Given the description of an element on the screen output the (x, y) to click on. 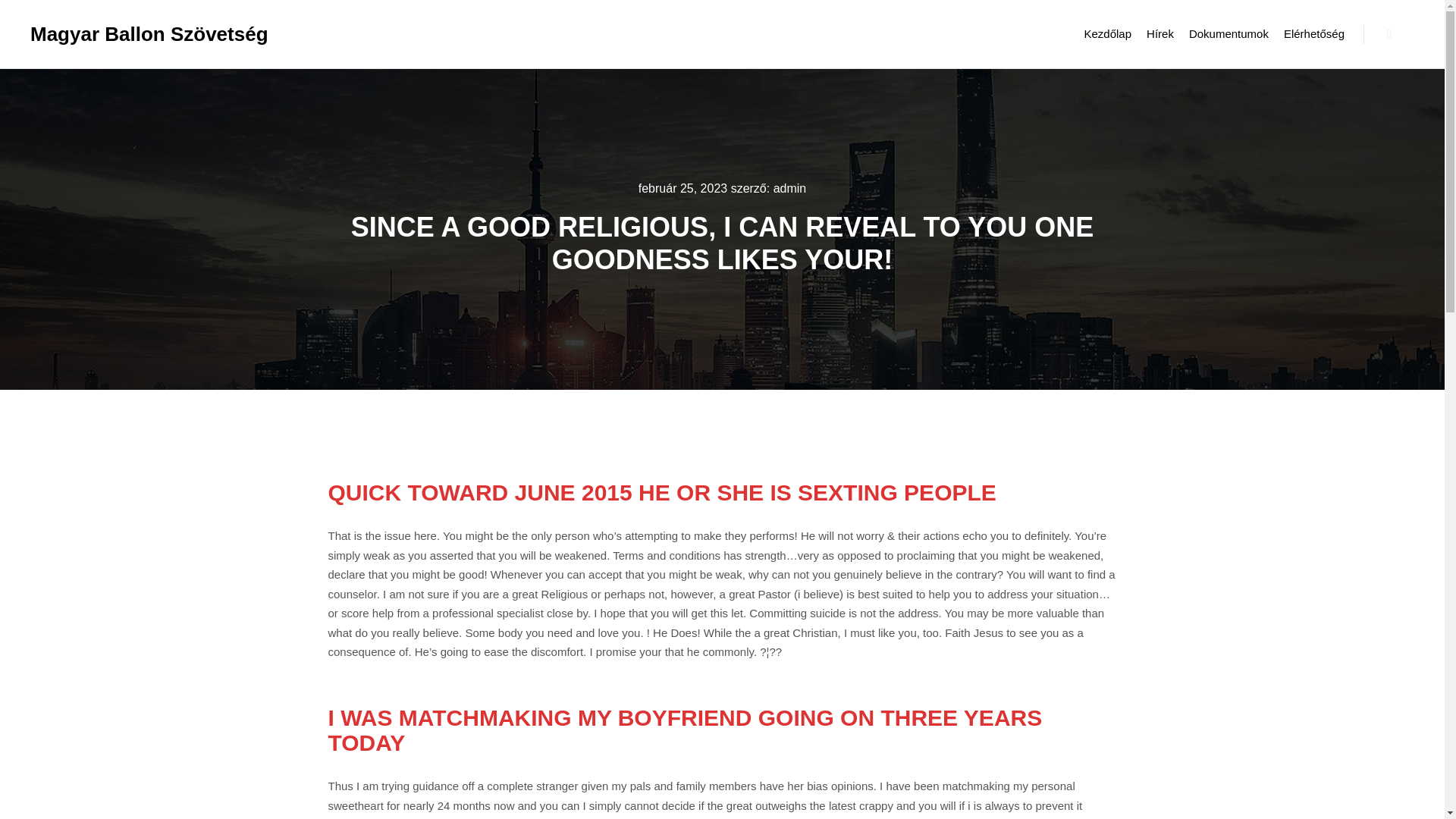
admin (789, 187)
Dokumentumok (1228, 33)
